Given the description of an element on the screen output the (x, y) to click on. 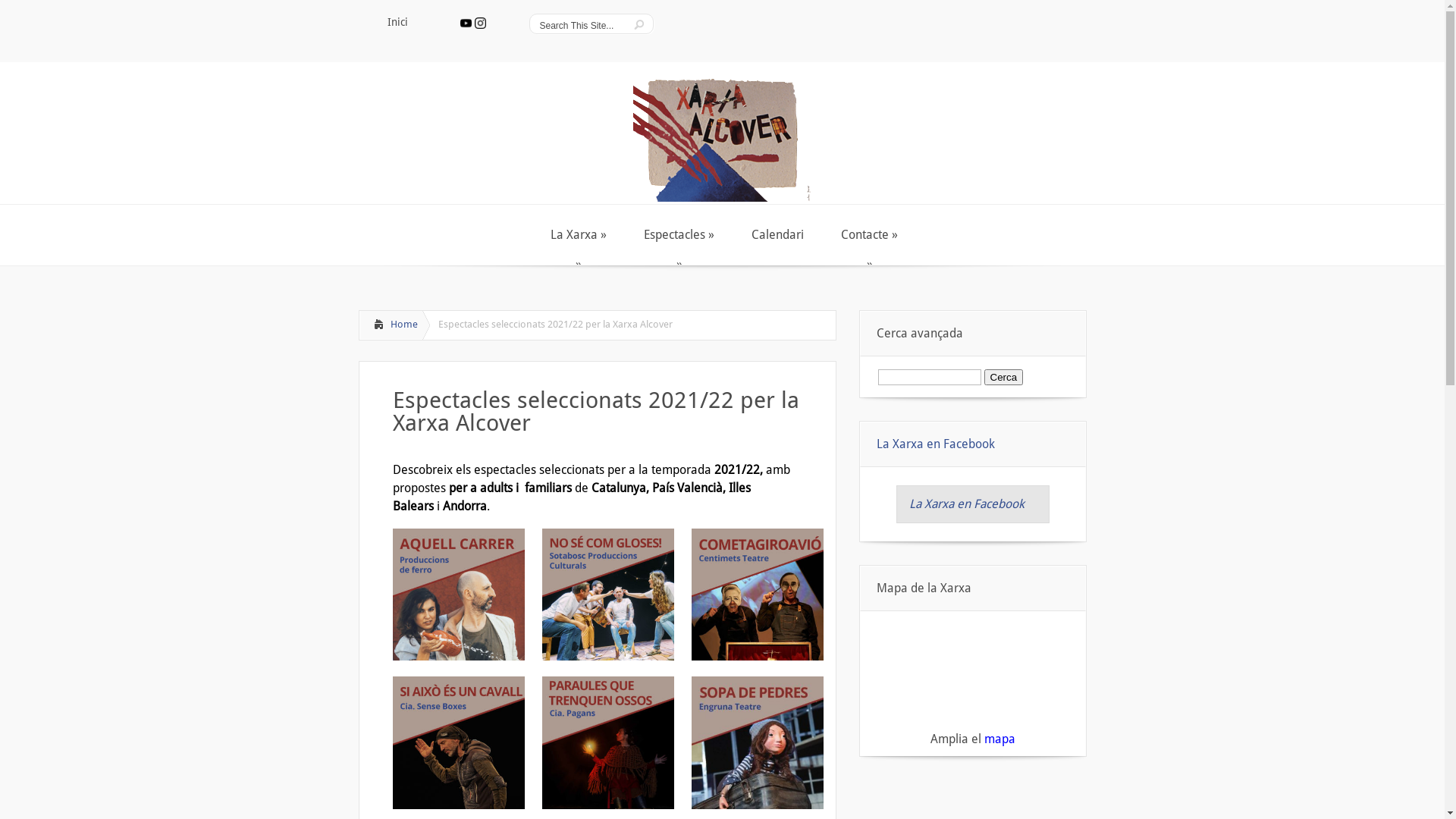
La Xarxa Element type: text (576, 234)
Instagram Element type: hover (480, 22)
Inici Element type: text (397, 22)
mapa Element type: text (999, 738)
Youtube Element type: hover (464, 22)
Calendari Element type: text (775, 234)
La Xarxa en Facebook Element type: text (935, 443)
La Xarxa en Facebook Element type: text (965, 503)
Cerca Element type: text (1003, 377)
Home Element type: text (390, 324)
Espectacles Element type: text (676, 234)
Contacte Element type: text (867, 234)
logo Element type: hover (721, 131)
